Given the description of an element on the screen output the (x, y) to click on. 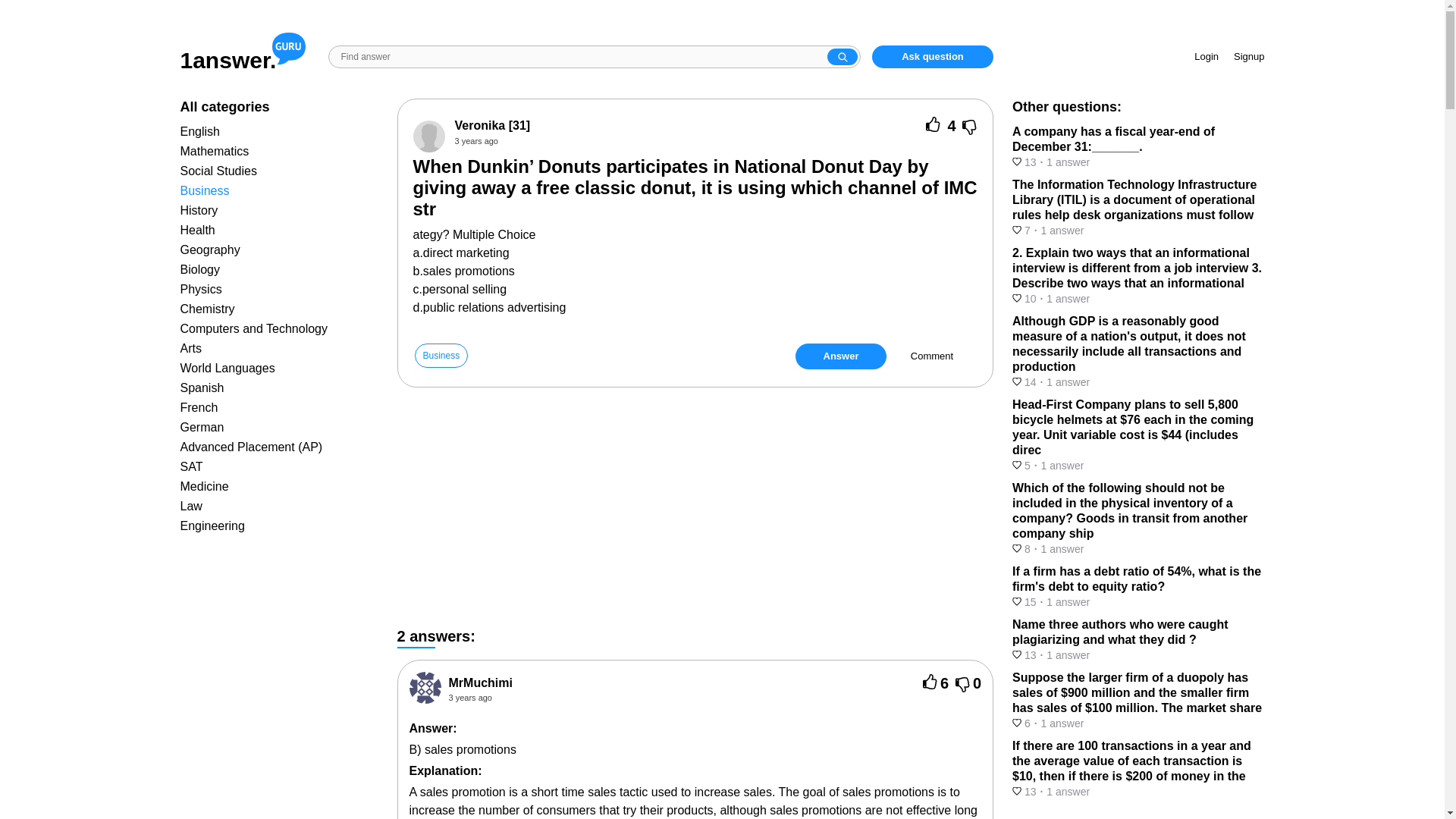
Spanish (202, 387)
Health (197, 229)
Business (440, 355)
German (202, 427)
Mathematics (214, 151)
English (199, 131)
Signup (1248, 56)
Ask question (932, 56)
MrMuchimi (480, 682)
History (199, 210)
French (199, 407)
Physics (201, 288)
2021-03-02 14:56:12 (475, 140)
Law (191, 505)
Answer (840, 356)
